Given the description of an element on the screen output the (x, y) to click on. 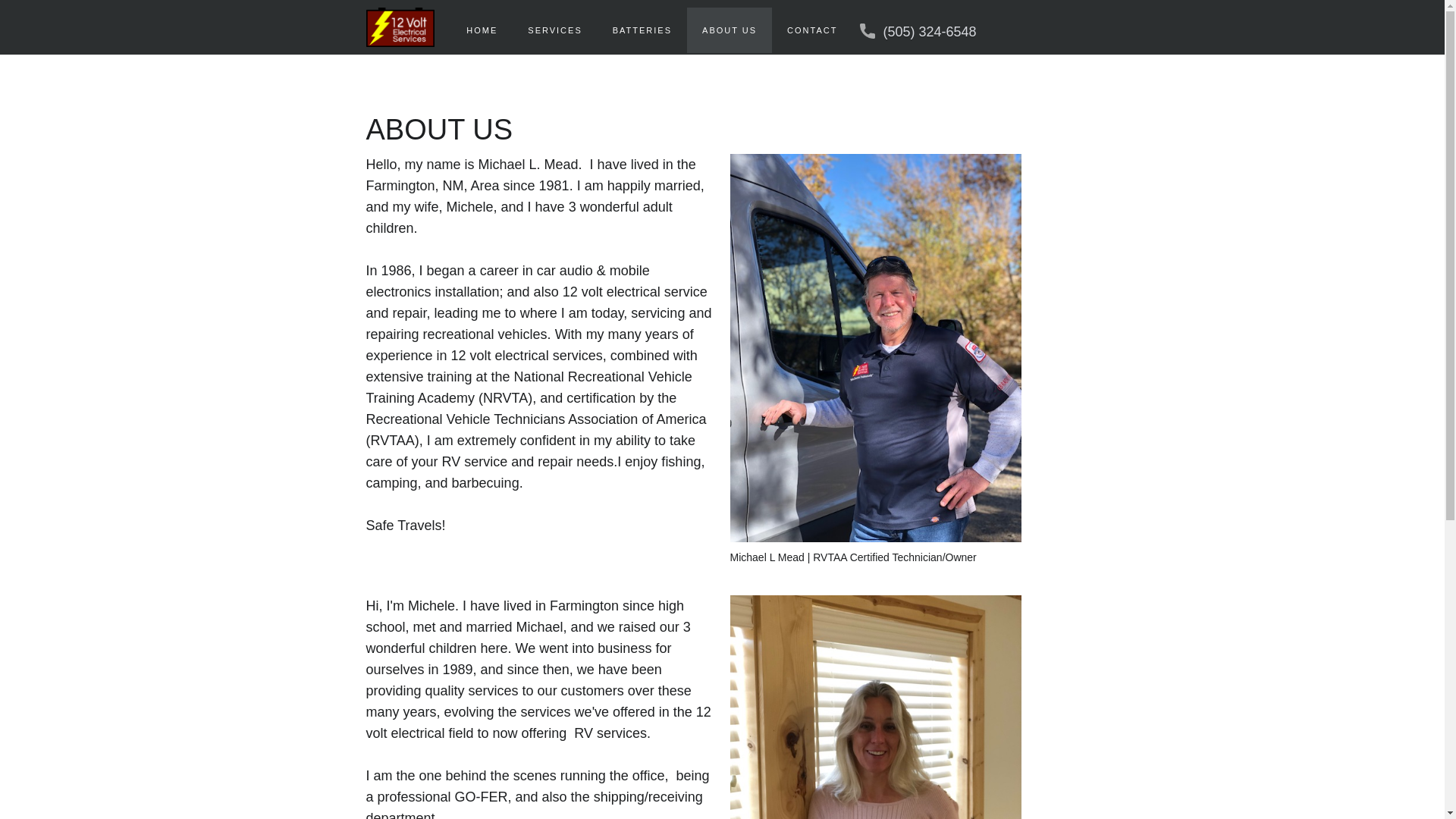
HOME Element type: text (481, 30)
BATTERIES Element type: text (642, 30)
CONTACT Element type: text (811, 30)
SERVICES Element type: text (554, 30)
ABOUT US Element type: text (729, 30)
